Given the description of an element on the screen output the (x, y) to click on. 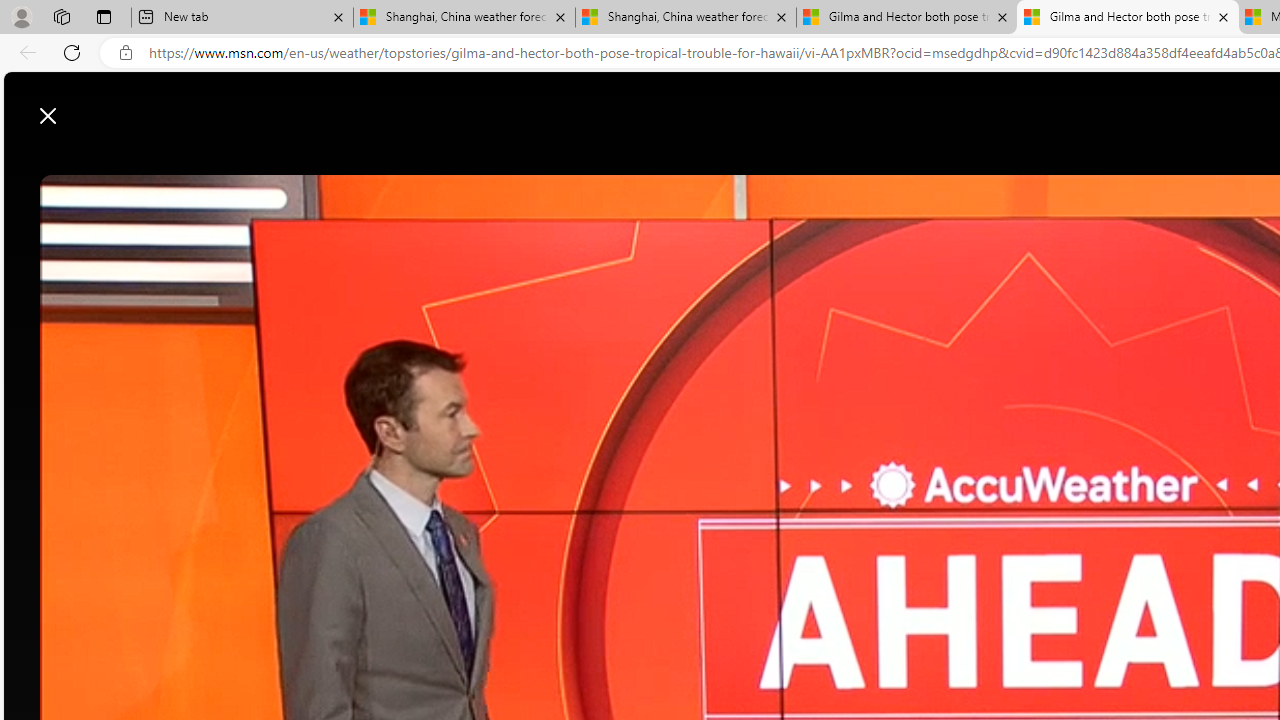
Class: control icon-only (47, 115)
